Given the description of an element on the screen output the (x, y) to click on. 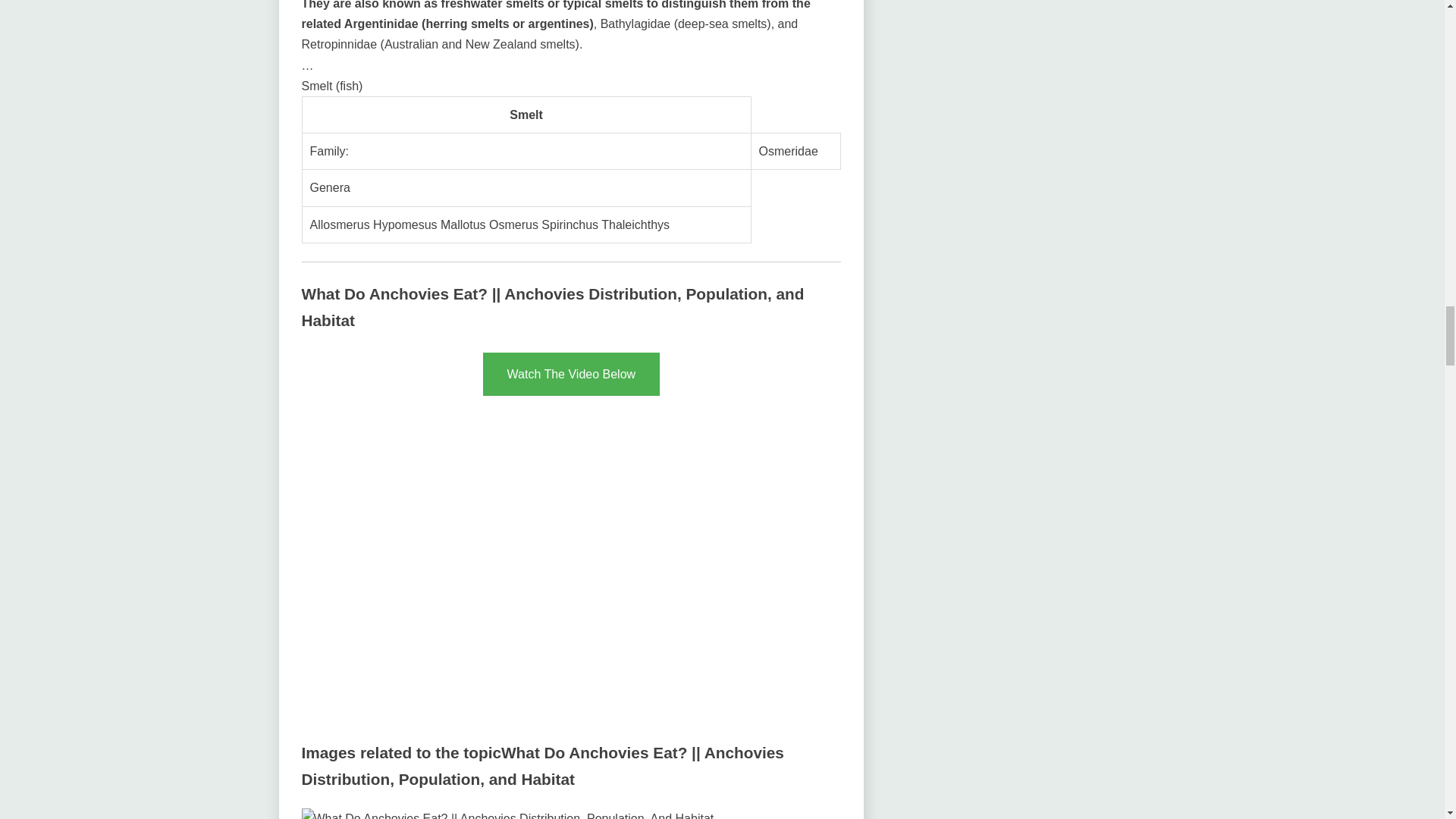
Watch The Video Below (572, 373)
